Given the description of an element on the screen output the (x, y) to click on. 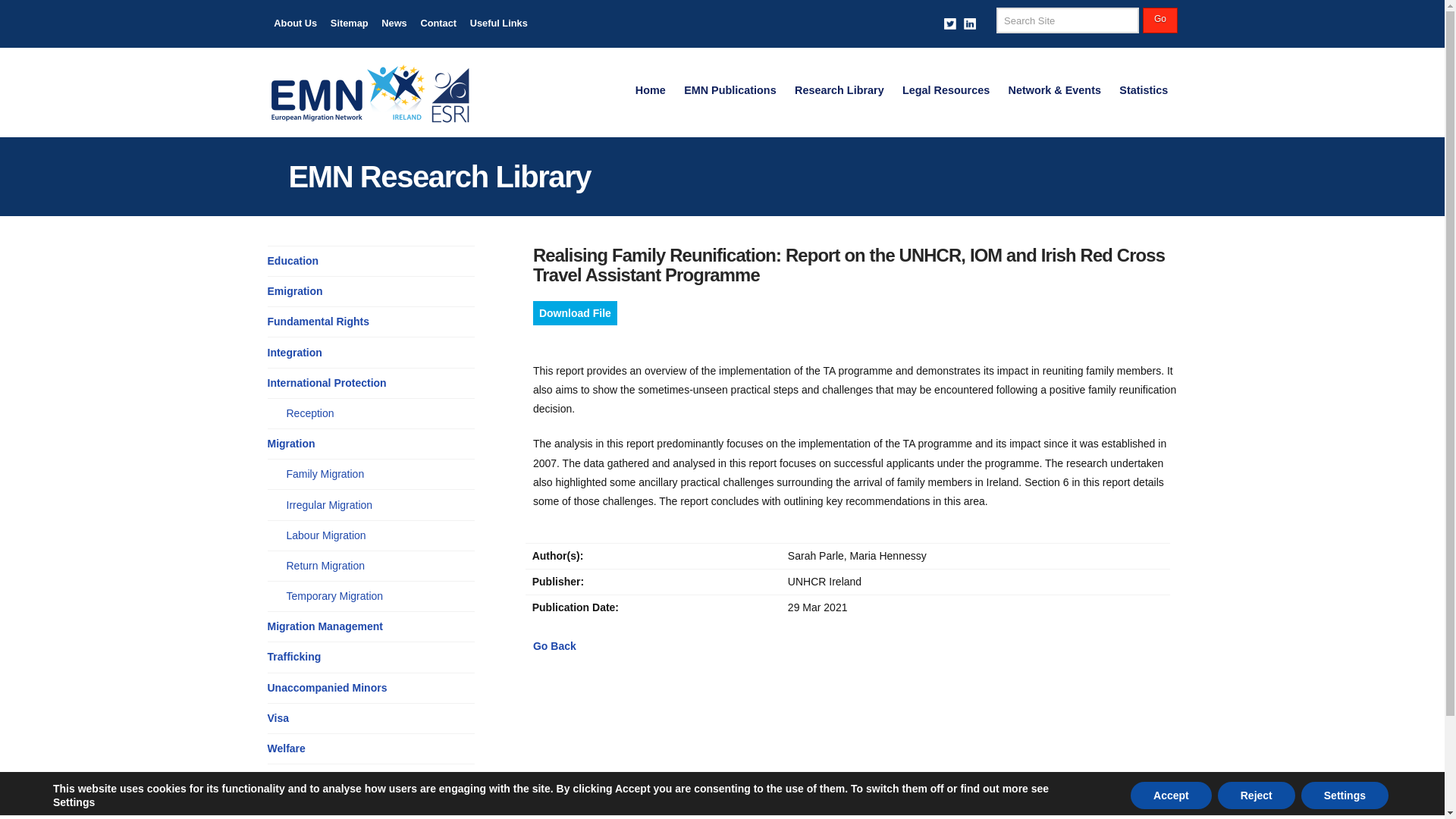
Fundamental Rights (317, 321)
Sitemap (348, 23)
Go (1159, 20)
Temporary Migration (335, 596)
Contact (438, 23)
Unaccompanied Minors (326, 688)
Migration Management (323, 626)
Migration (290, 443)
News (393, 23)
Research Library (839, 90)
Welfare (285, 748)
Legal Resources (945, 90)
Statistics (1142, 90)
Integration (293, 352)
Home (650, 90)
